Given the description of an element on the screen output the (x, y) to click on. 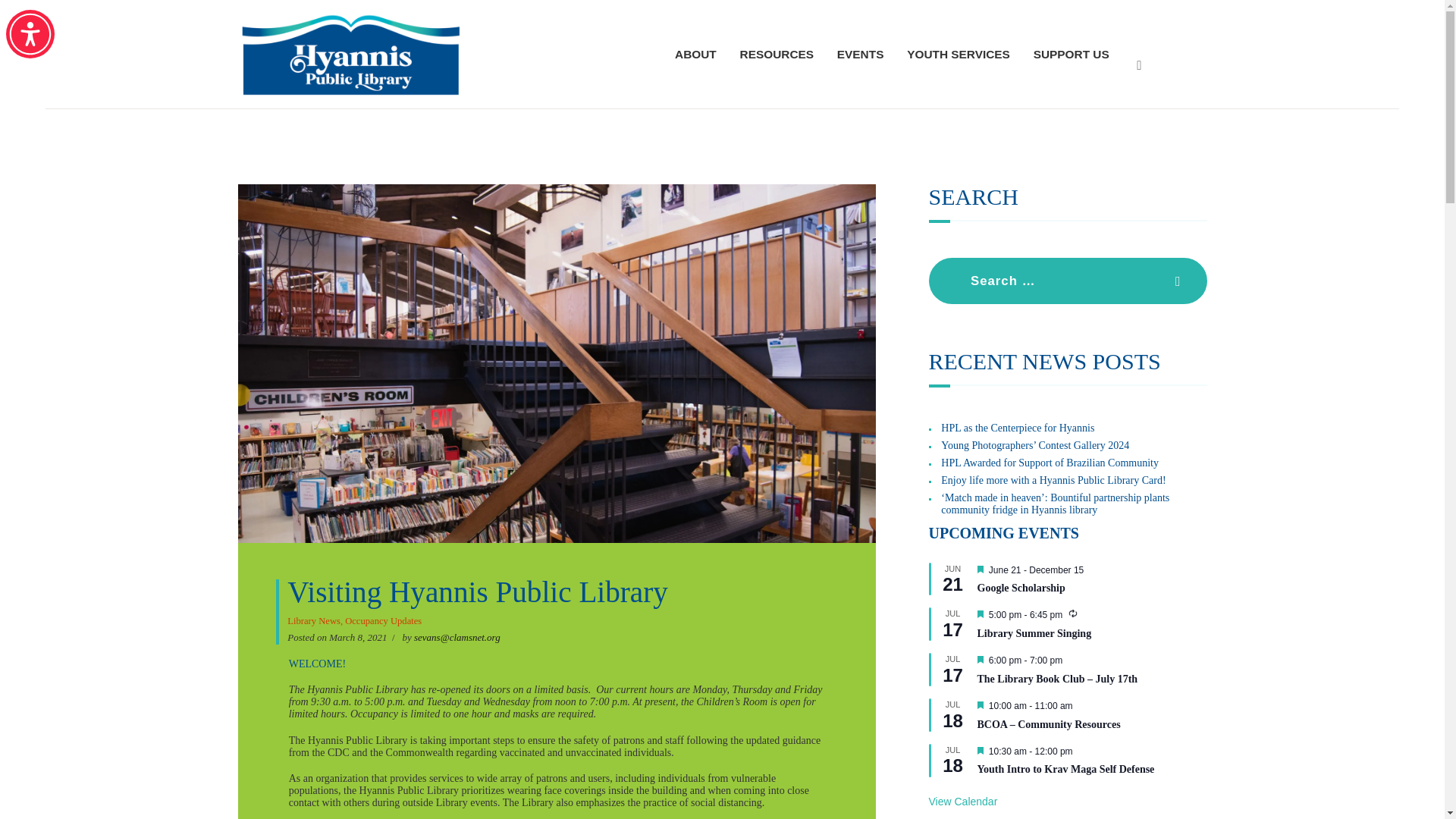
EVENTS (860, 54)
Recurring (1072, 613)
Google Scholarship (1091, 588)
RESOURCES (776, 54)
Accessibility Menu (30, 33)
Library Summer Singing (1091, 633)
SUPPORT US (1071, 54)
ABOUT (696, 54)
YOUTH SERVICES (958, 54)
